Given the description of an element on the screen output the (x, y) to click on. 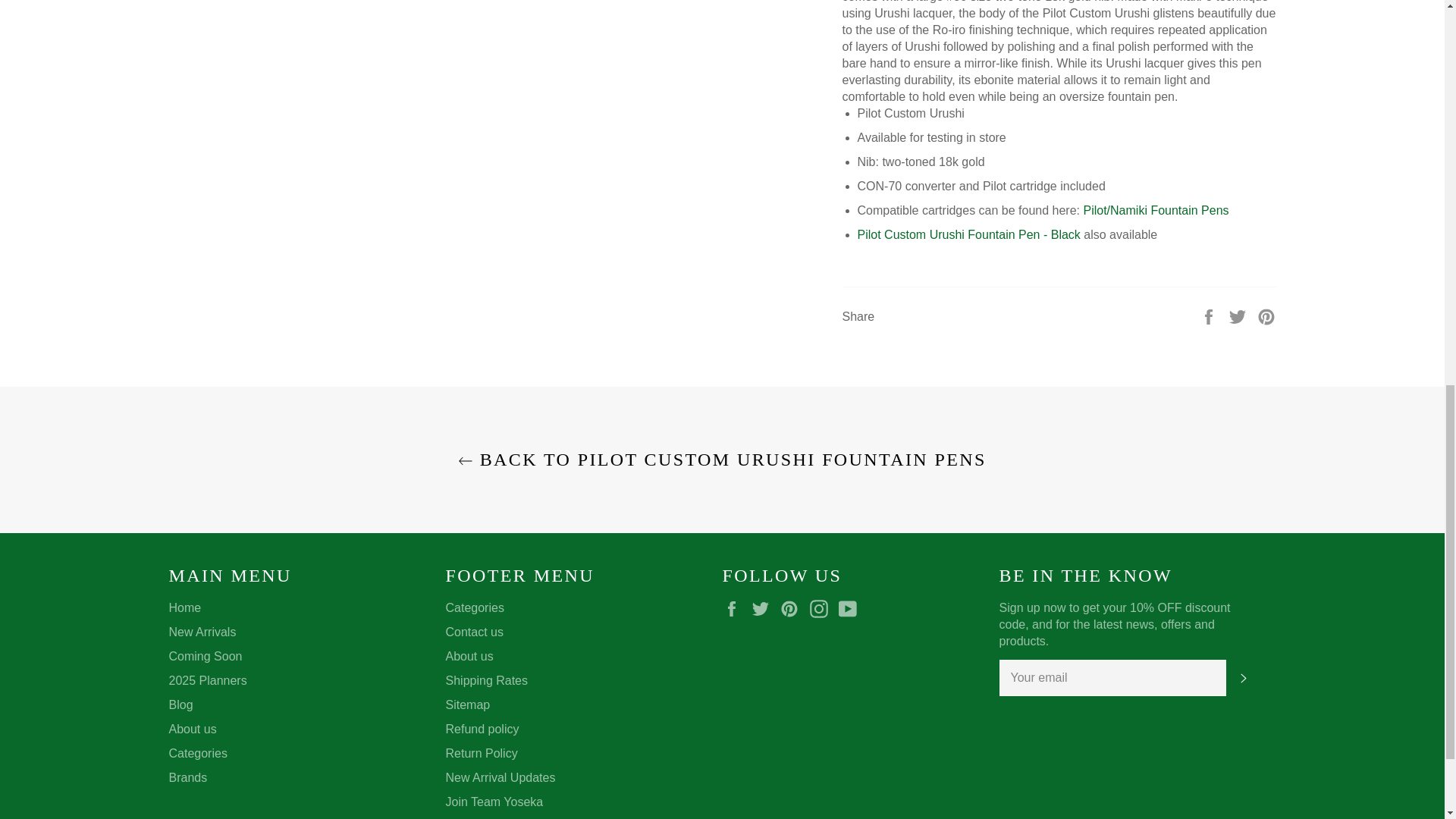
Yoseka Stationery on Instagram (822, 608)
Yoseka Stationery on Facebook (735, 608)
Tweet on Twitter (1238, 315)
Yoseka Stationery on Pinterest (793, 608)
Yoseka Stationery on YouTube (851, 608)
Yoseka Stationery on Twitter (764, 608)
Share on Facebook (1210, 315)
Pin on Pinterest (1266, 315)
